Given the description of an element on the screen output the (x, y) to click on. 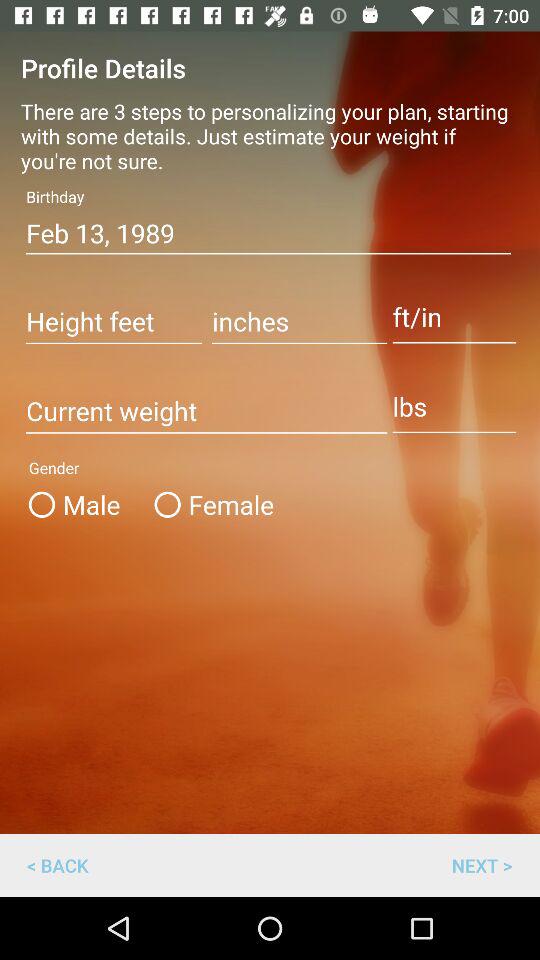
type current weight (206, 412)
